Given the description of an element on the screen output the (x, y) to click on. 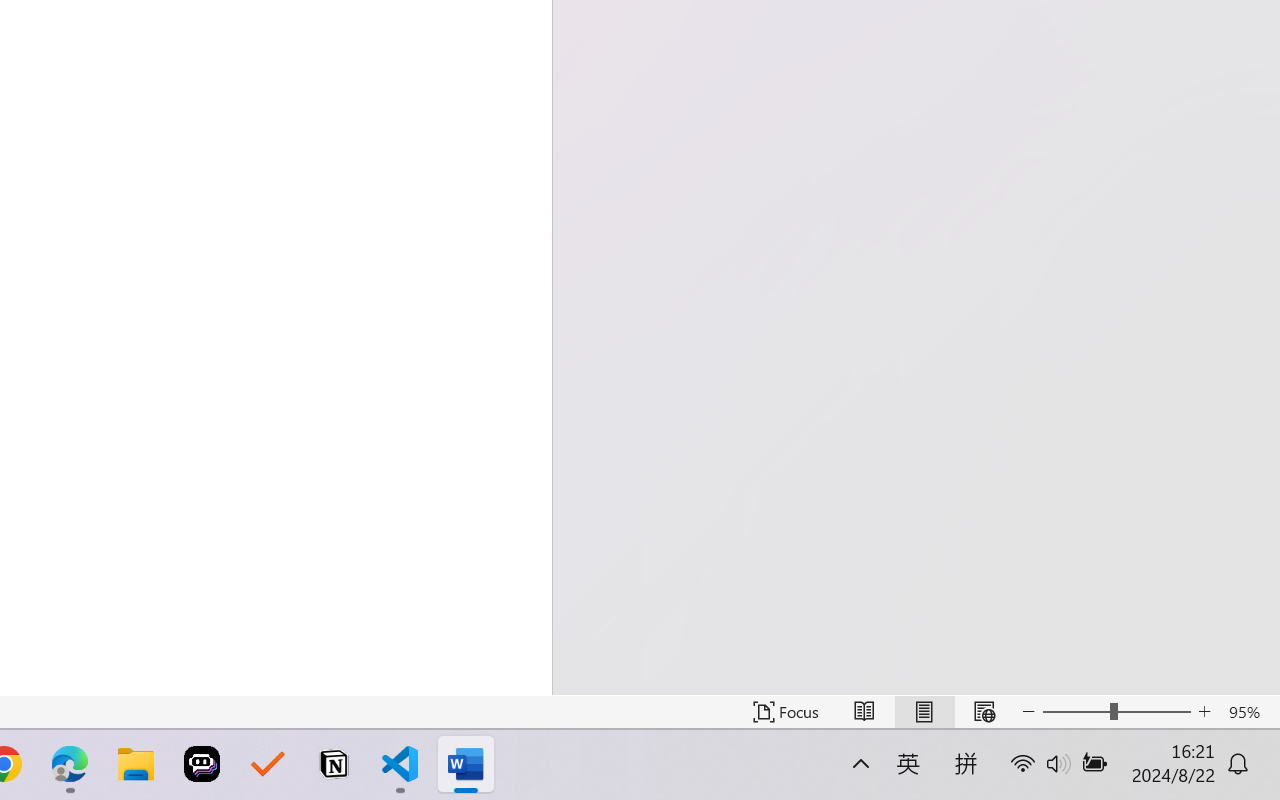
Zoom 95% (1249, 712)
